Given the description of an element on the screen output the (x, y) to click on. 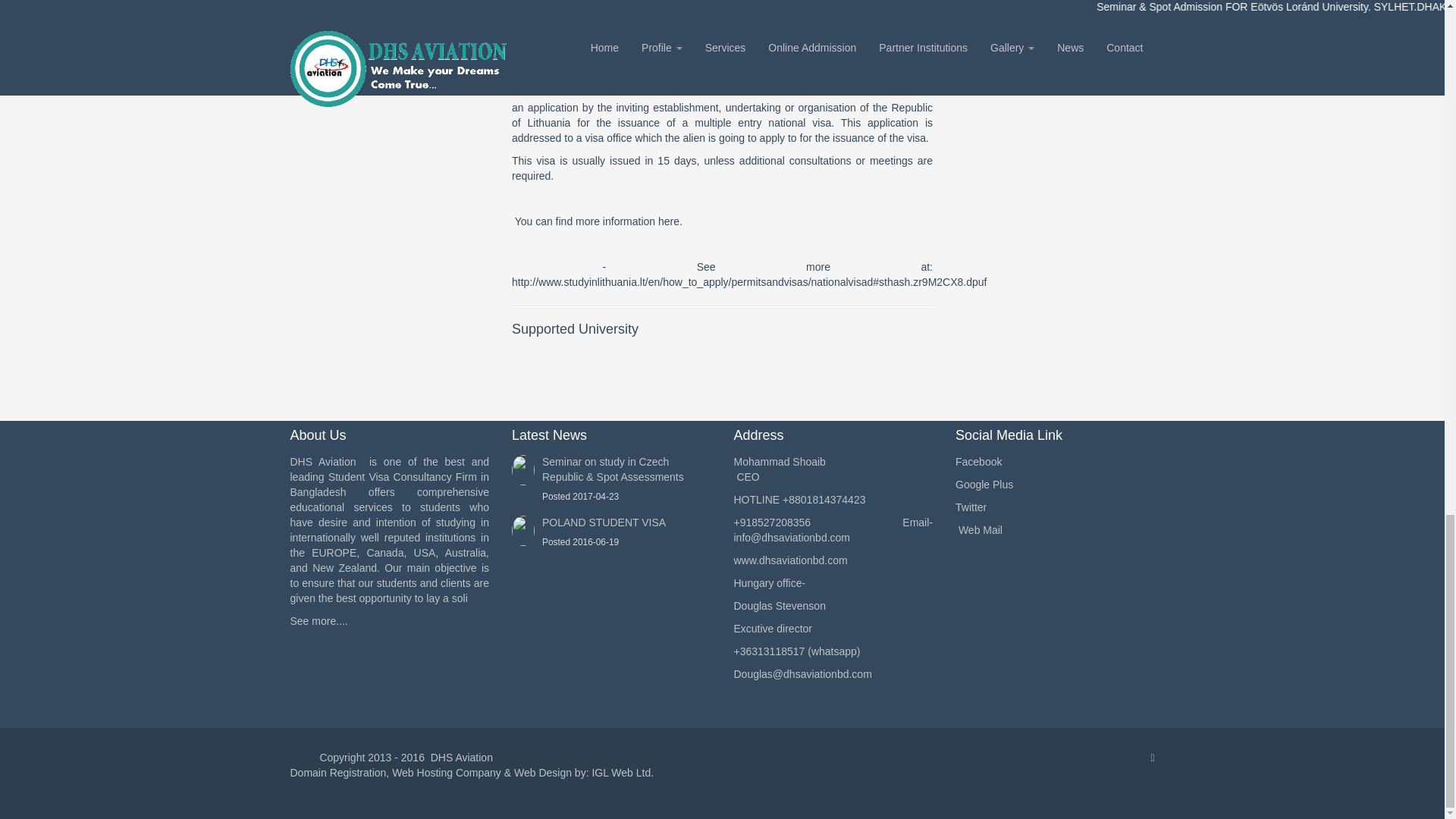
Web Hosting Company (445, 772)
Twitter (1054, 507)
Domain Registration (337, 772)
USA (389, 30)
IGL Web Ltd (620, 772)
Google Plus (1054, 485)
POLAND STUDENT VISA (603, 522)
POLAND EDUCATION FAIR 2016 (389, 115)
Web Design (542, 772)
See more.... (318, 621)
 Web Mail (1054, 530)
Facebook (1054, 462)
